Given the description of an element on the screen output the (x, y) to click on. 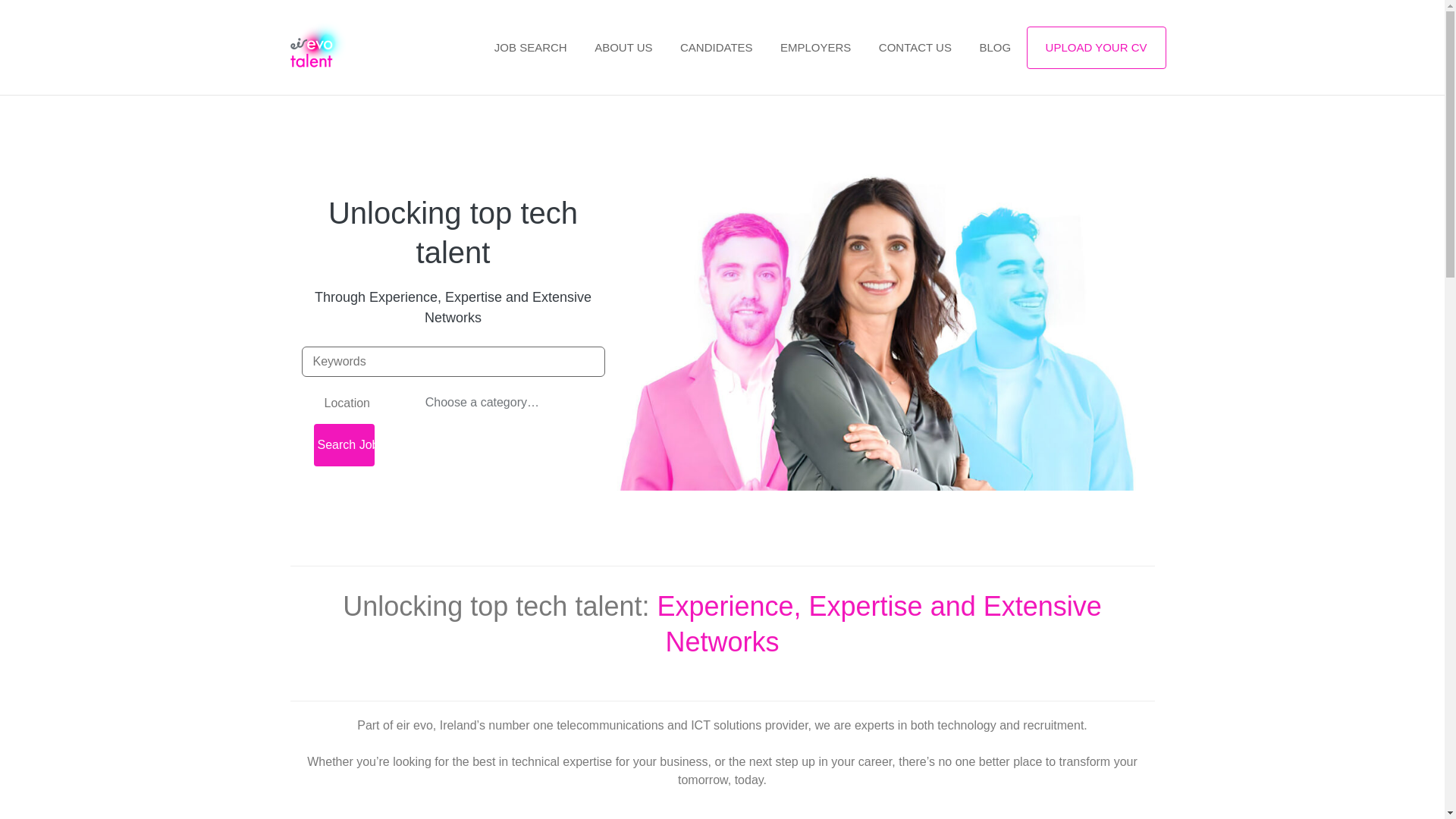
Search Jobs (344, 445)
JOB SEARCH (530, 47)
eir evo talent (332, 47)
CONTACT US (914, 47)
EMPLOYERS (815, 47)
ABOUT US (622, 47)
BLOG (994, 47)
CANDIDATES (716, 47)
Search Jobs (344, 445)
UPLOAD YOUR CV (1096, 47)
